Given the description of an element on the screen output the (x, y) to click on. 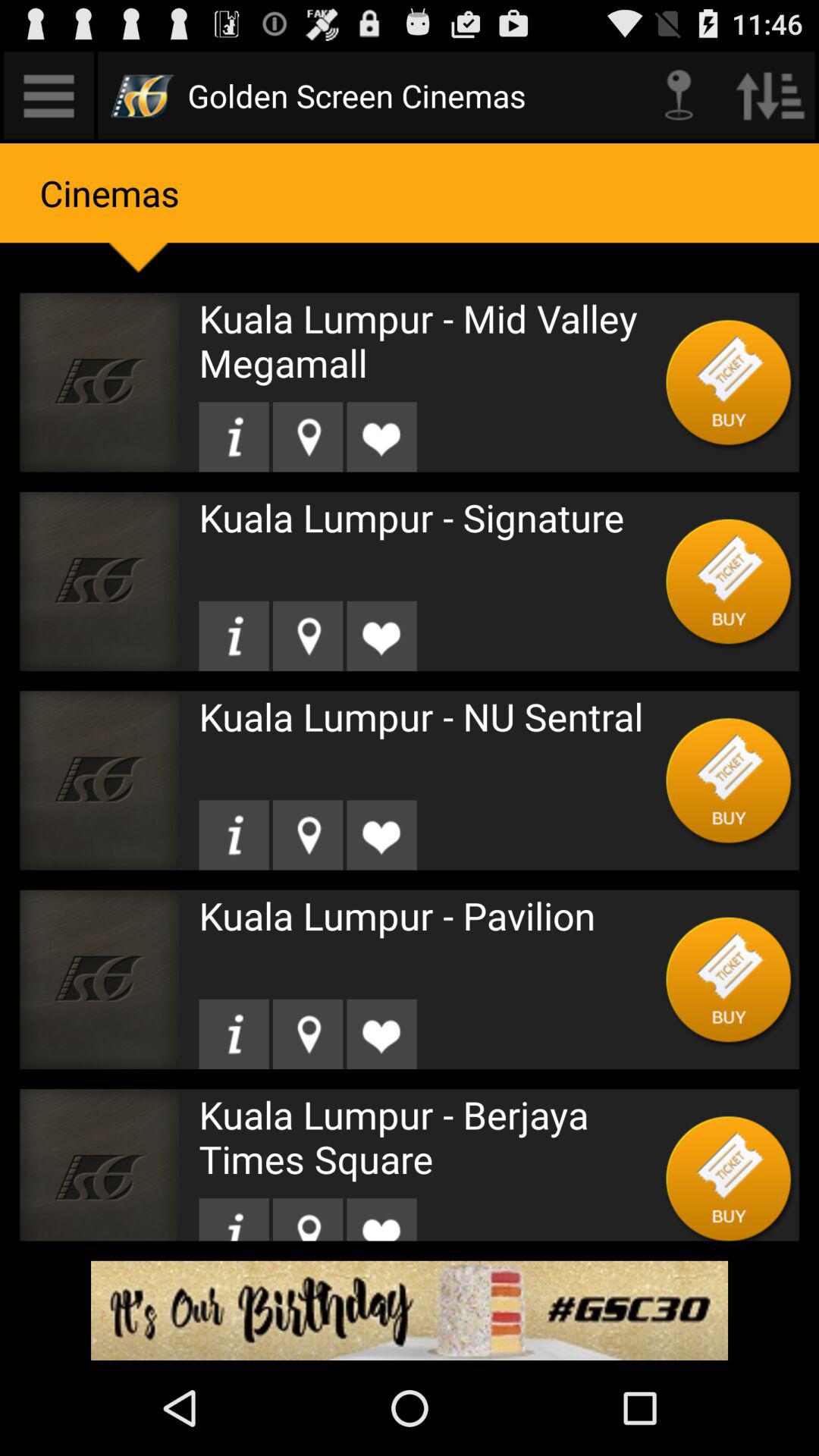
go to previous (770, 95)
